Given the description of an element on the screen output the (x, y) to click on. 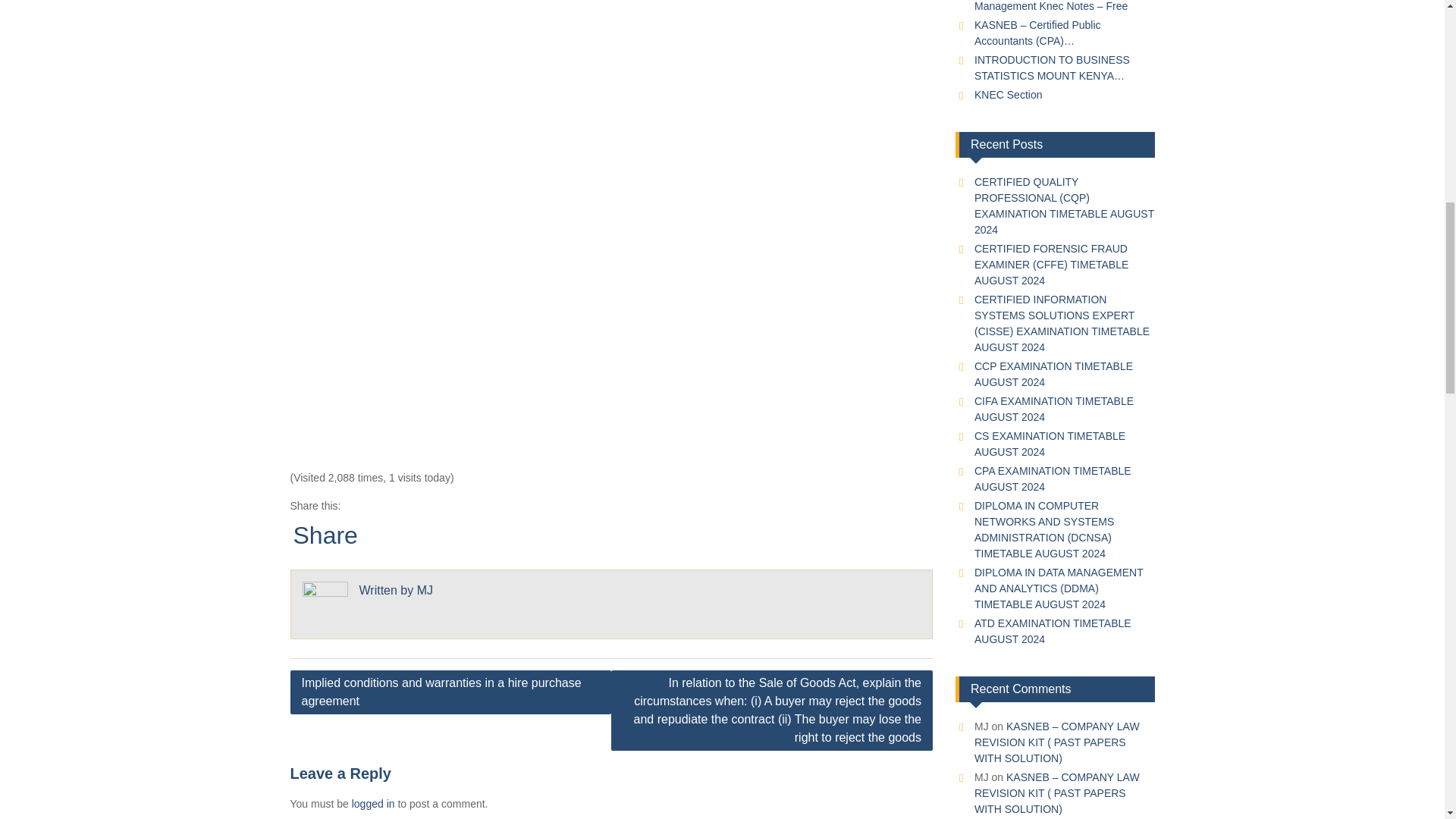
Share (324, 535)
MJ (424, 590)
logged in (373, 803)
Posts by MJ (424, 590)
